Given the description of an element on the screen output the (x, y) to click on. 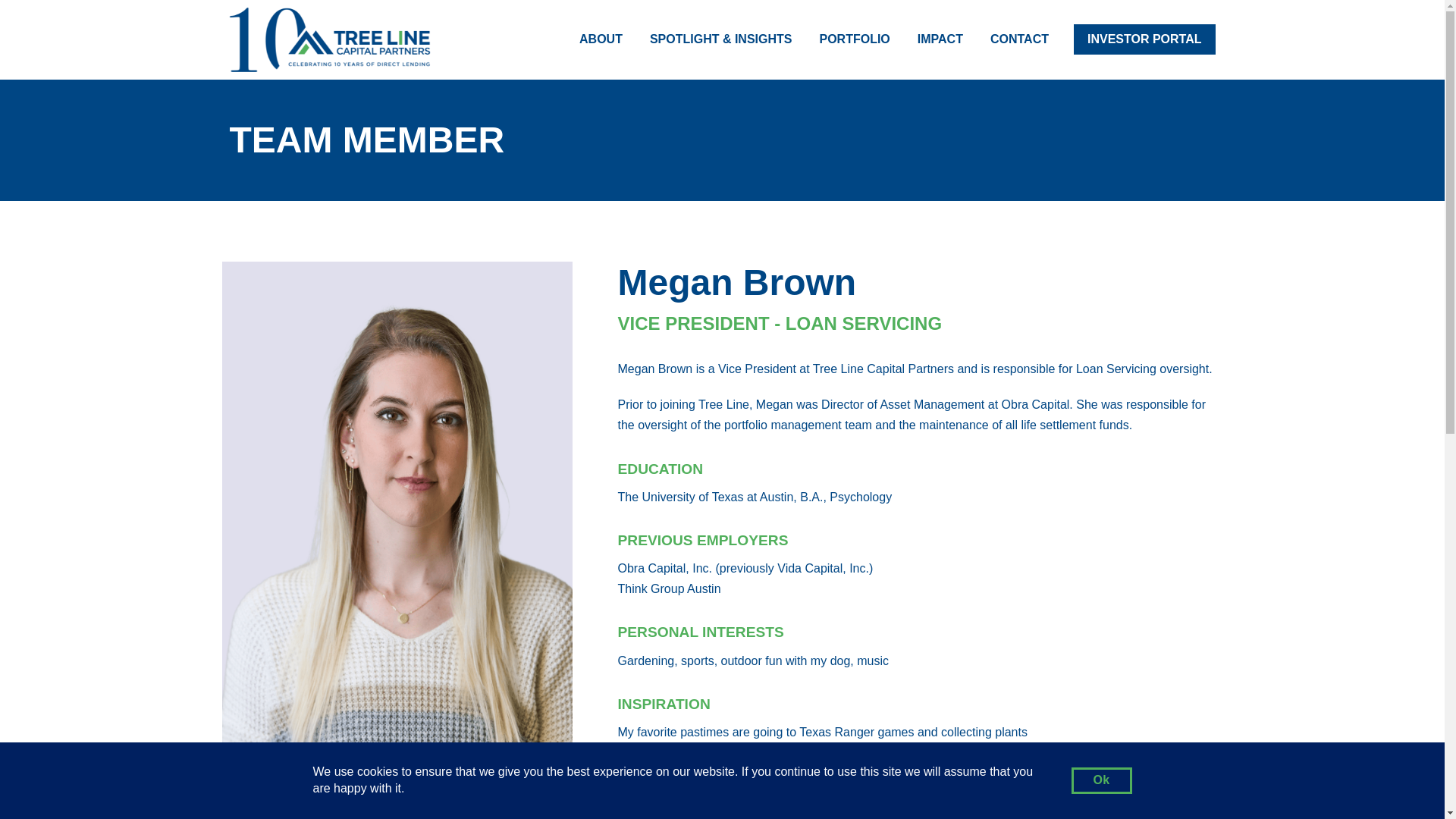
INVESTOR PORTAL (1144, 39)
IMPACT (940, 39)
PORTFOLIO (853, 39)
CONTACT (1019, 39)
ABOUT (601, 39)
